Given the description of an element on the screen output the (x, y) to click on. 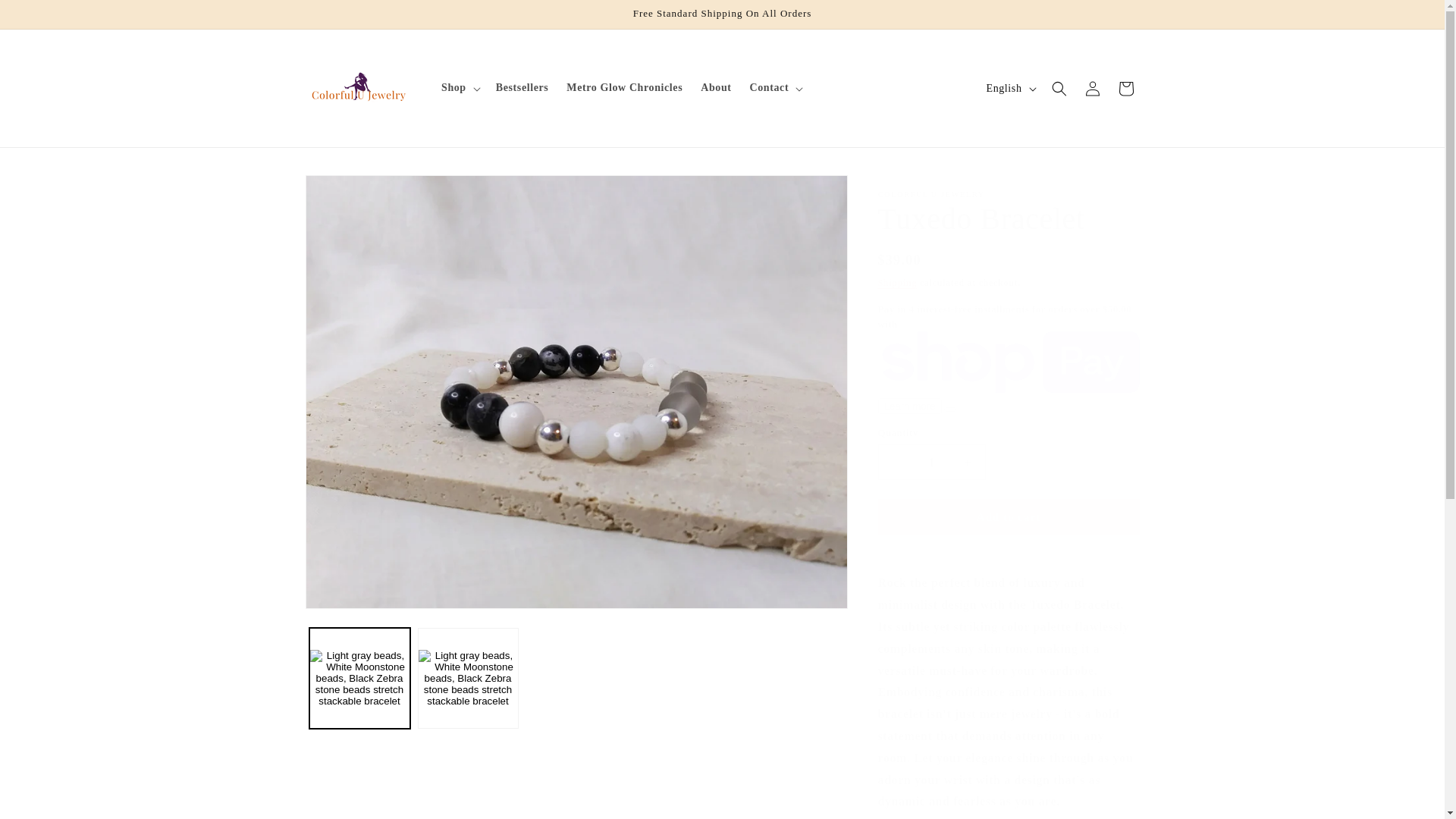
Bestsellers (521, 88)
About (715, 88)
Skip to content (45, 17)
Metro Glow Chronicles (624, 88)
1 (931, 461)
